Given the description of an element on the screen output the (x, y) to click on. 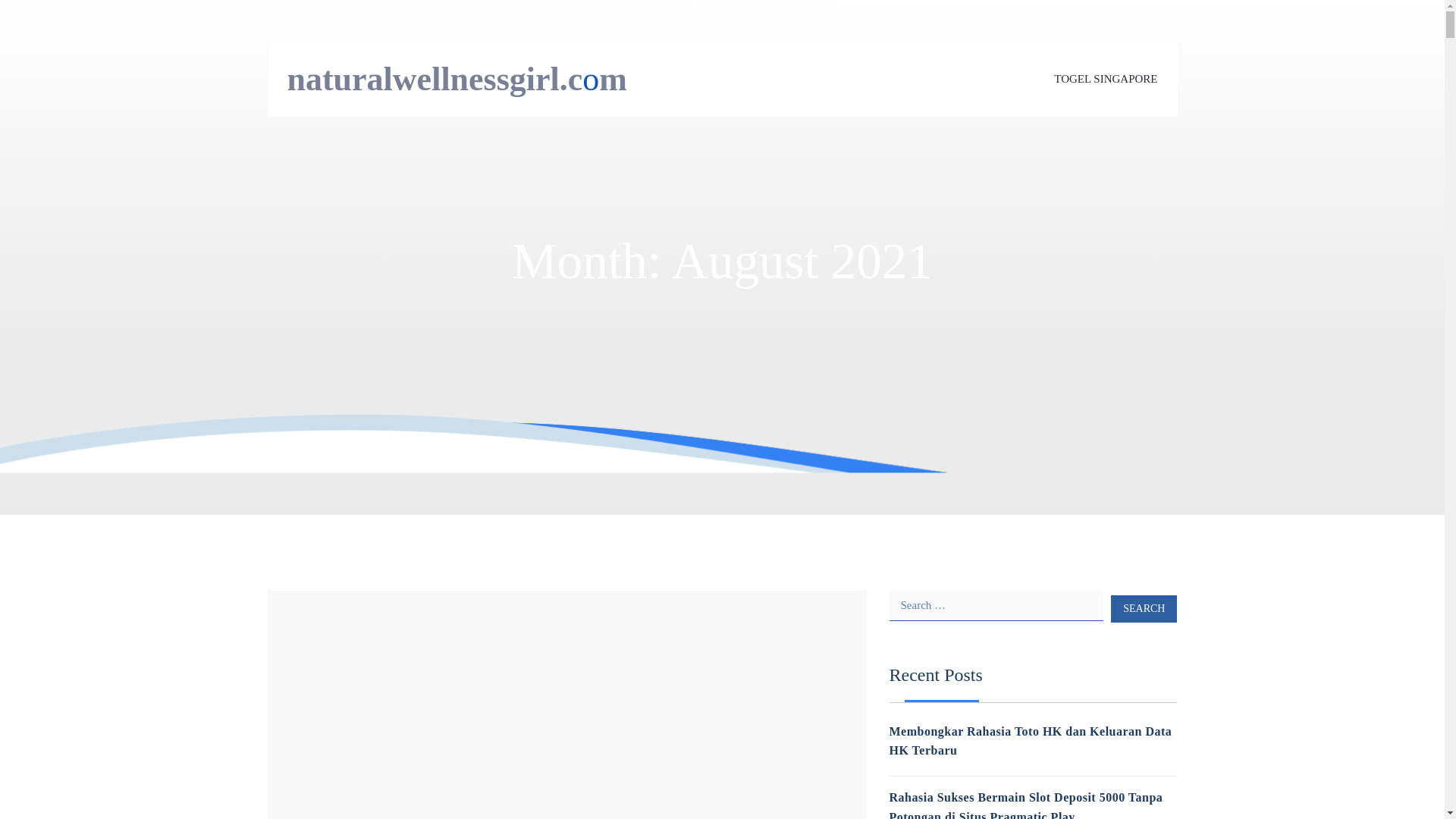
ADMINNAT (384, 650)
Search (1143, 608)
TOGEL SINGAPORE (1105, 78)
naturalwellnessgirl.com (456, 78)
Search (1143, 608)
31 AUGUST 2021 (306, 650)
Types of News Travel Stories (414, 608)
